Given the description of an element on the screen output the (x, y) to click on. 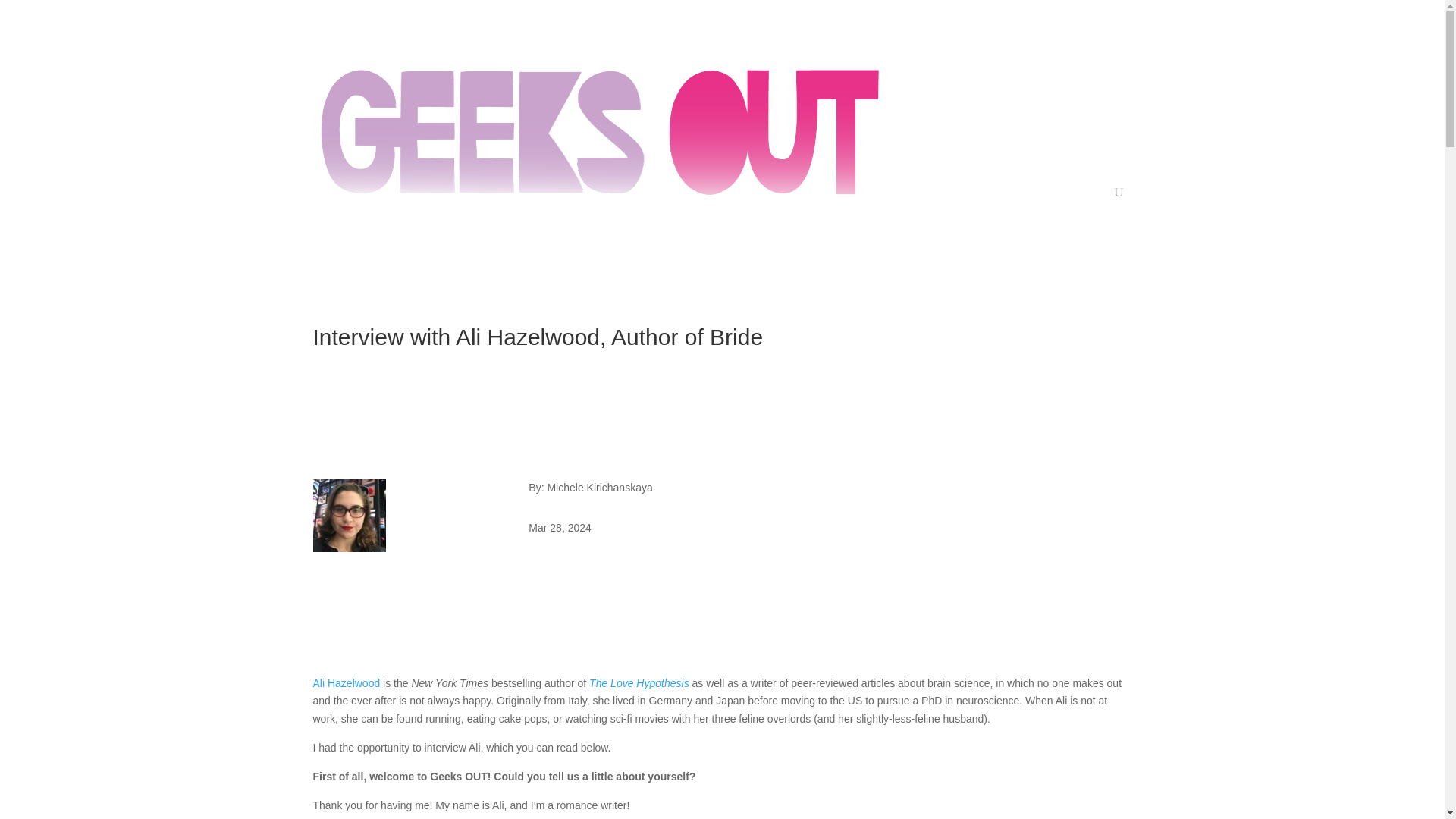
The Love Hypothesis (638, 683)
About Us (1011, 91)
Ali Hazelwood (346, 683)
